Given the description of an element on the screen output the (x, y) to click on. 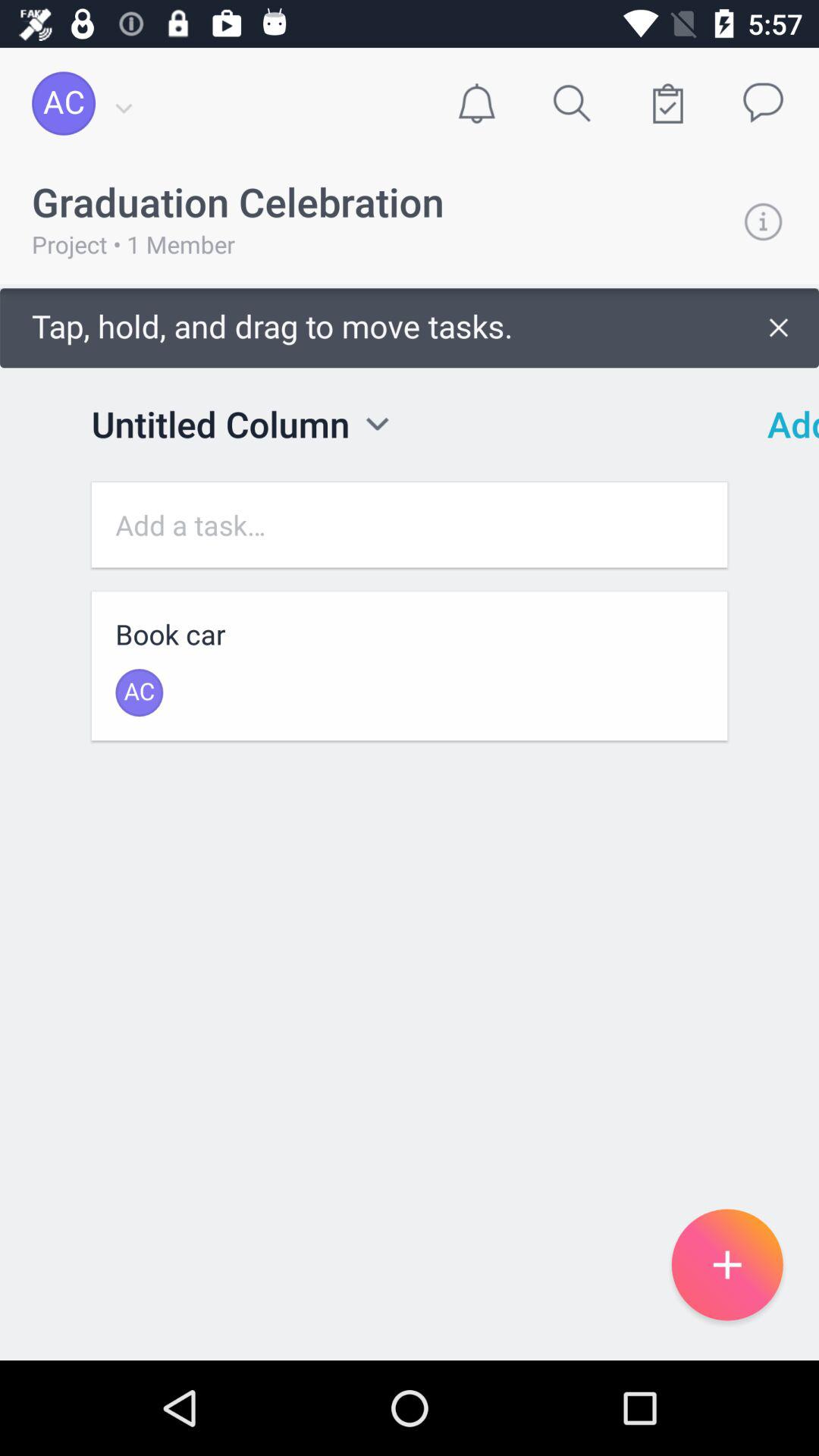
turn off icon below tap hold and item (783, 423)
